Given the description of an element on the screen output the (x, y) to click on. 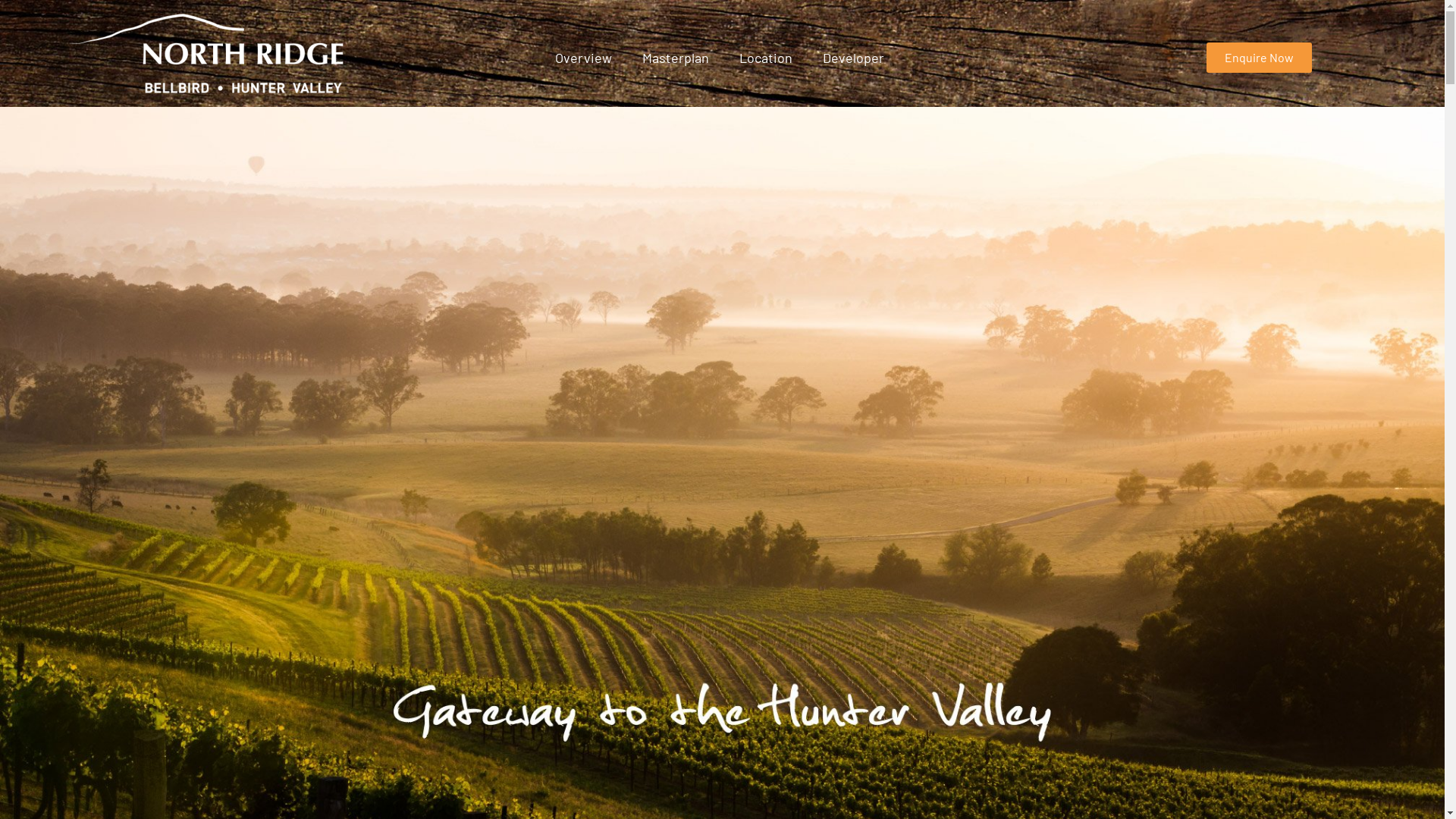
Developer Element type: text (853, 57)
Location Element type: text (765, 57)
Overview Element type: text (583, 57)
Enquire Now Element type: text (1258, 57)
Masterplan Element type: text (675, 57)
